Given the description of an element on the screen output the (x, y) to click on. 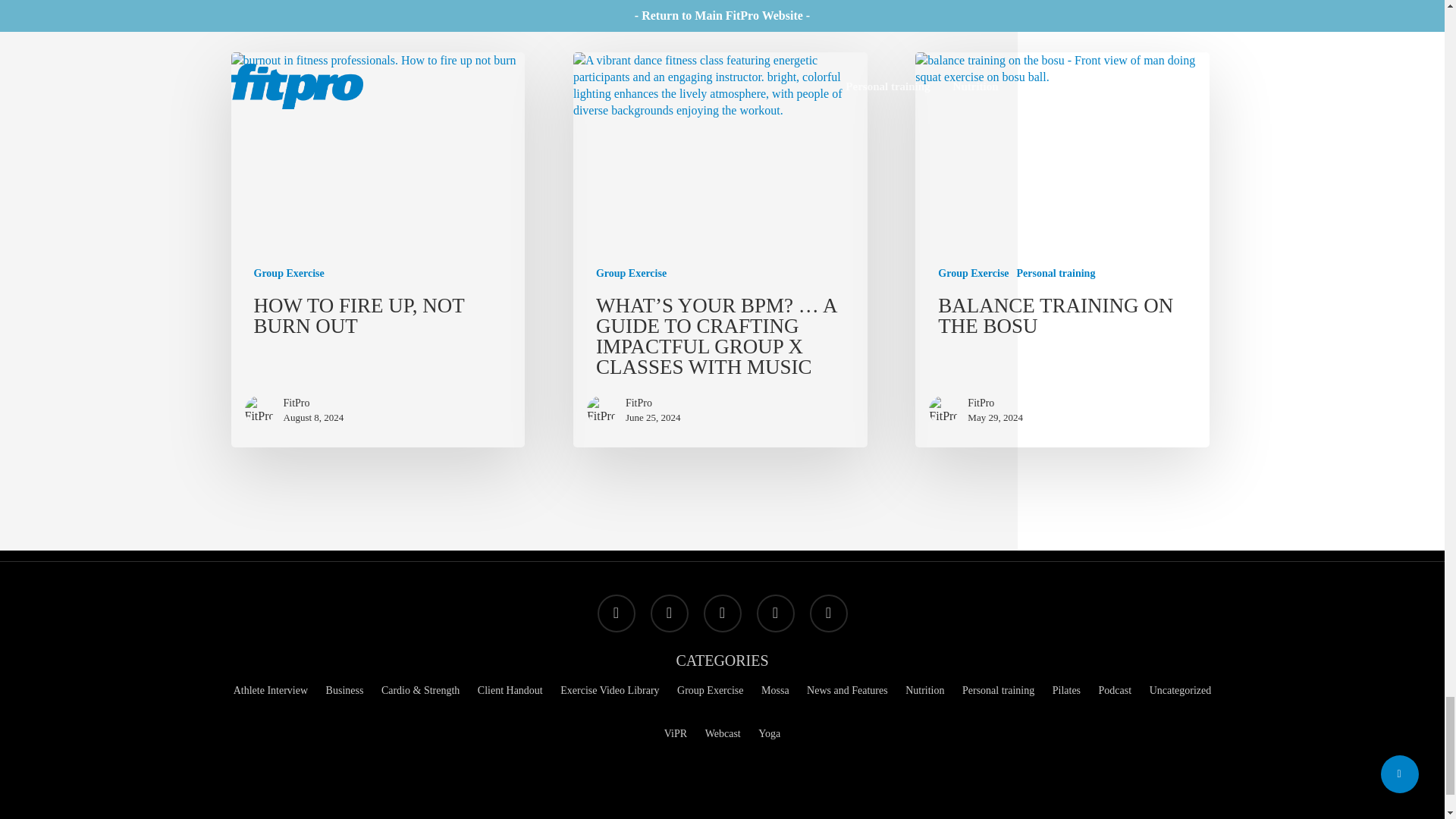
Group Exercise (288, 273)
FitPro (313, 403)
Group Exercise (630, 273)
